Given the description of an element on the screen output the (x, y) to click on. 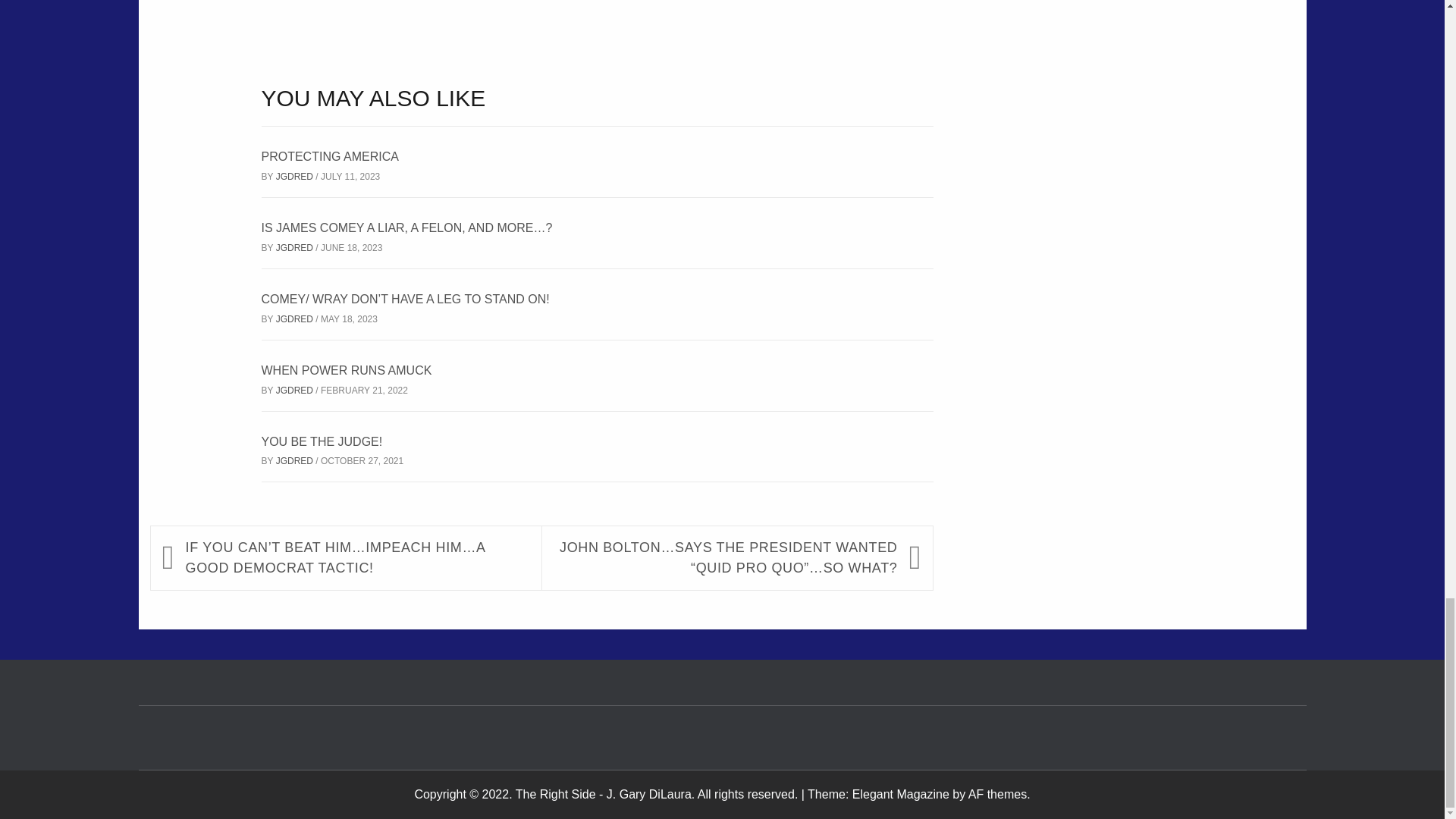
JGDRED (295, 318)
YOU BE THE JUDGE! (320, 440)
JGDRED (295, 176)
JGDRED (295, 389)
PROTECTING AMERICA (328, 155)
WHEN POWER RUNS AMUCK (345, 369)
JGDRED (295, 460)
JGDRED (295, 247)
